Given the description of an element on the screen output the (x, y) to click on. 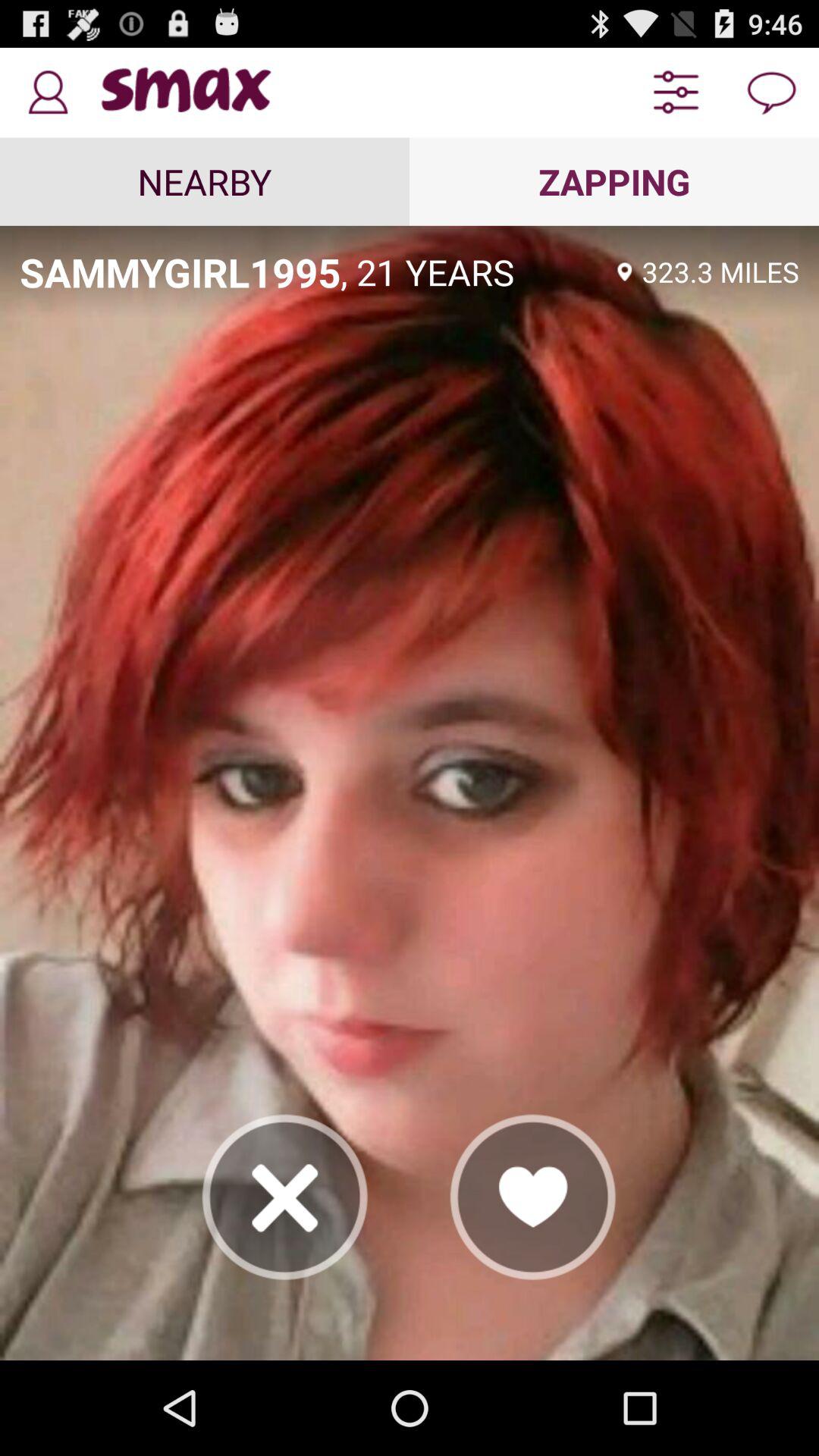
press icon to the right of the sammygirl1995 app (473, 271)
